Given the description of an element on the screen output the (x, y) to click on. 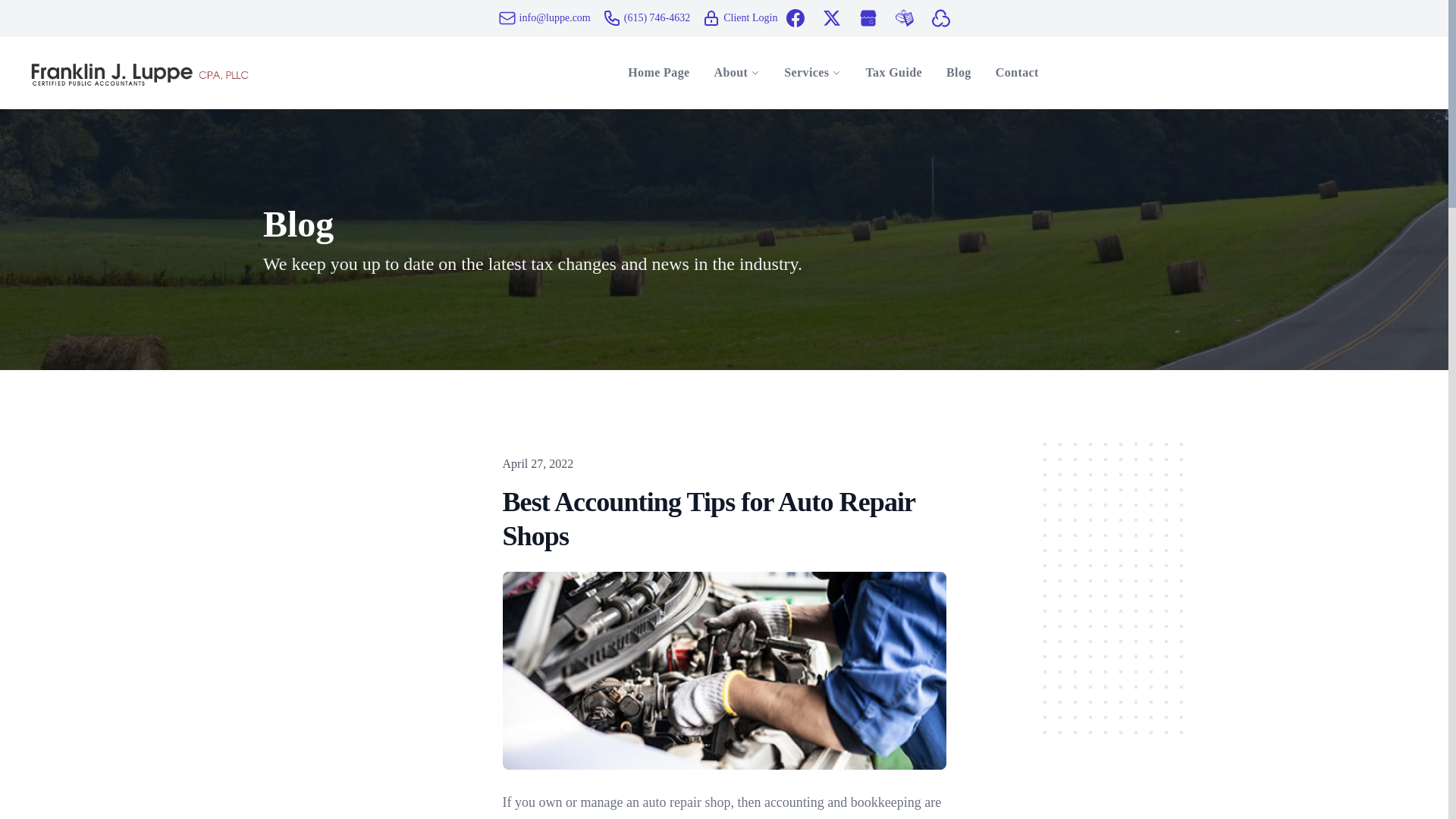
Client Login (710, 18)
About (731, 72)
Services (806, 72)
Blog (959, 72)
Franklin J Luppe, CPA, PLLC (139, 72)
Contact (1017, 72)
GMB (868, 18)
Facebook (795, 18)
Home Page (658, 72)
phone (611, 18)
CountingWorks (940, 18)
Tax Guide (893, 72)
Client Login (739, 18)
Twitter (831, 18)
TaxBuzz (904, 18)
